Given the description of an element on the screen output the (x, y) to click on. 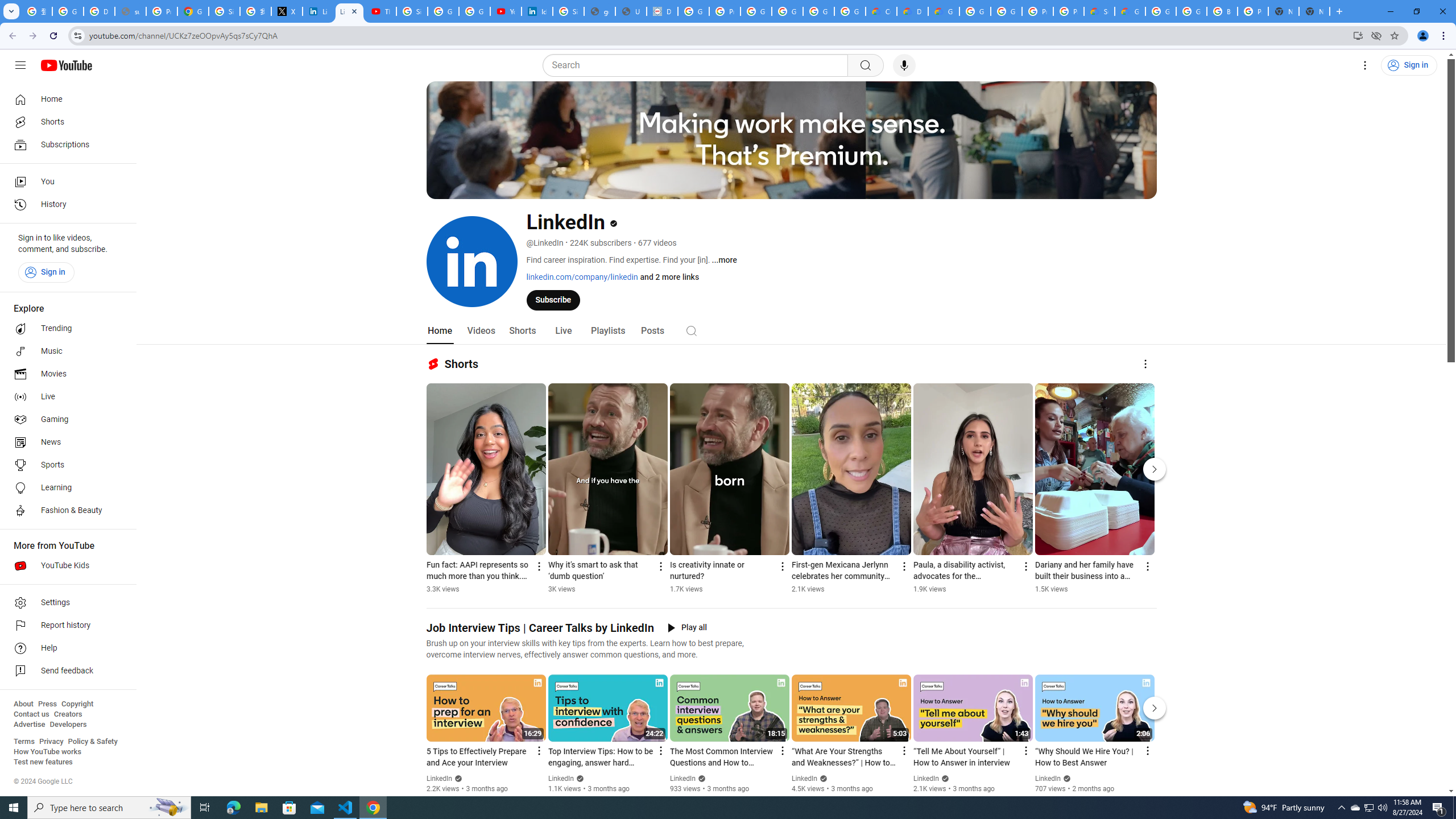
Play all (687, 627)
Advertise (29, 724)
Press (46, 703)
Live (64, 396)
Copyright (77, 703)
LinkedIn (1048, 778)
Learning (64, 487)
